Given the description of an element on the screen output the (x, y) to click on. 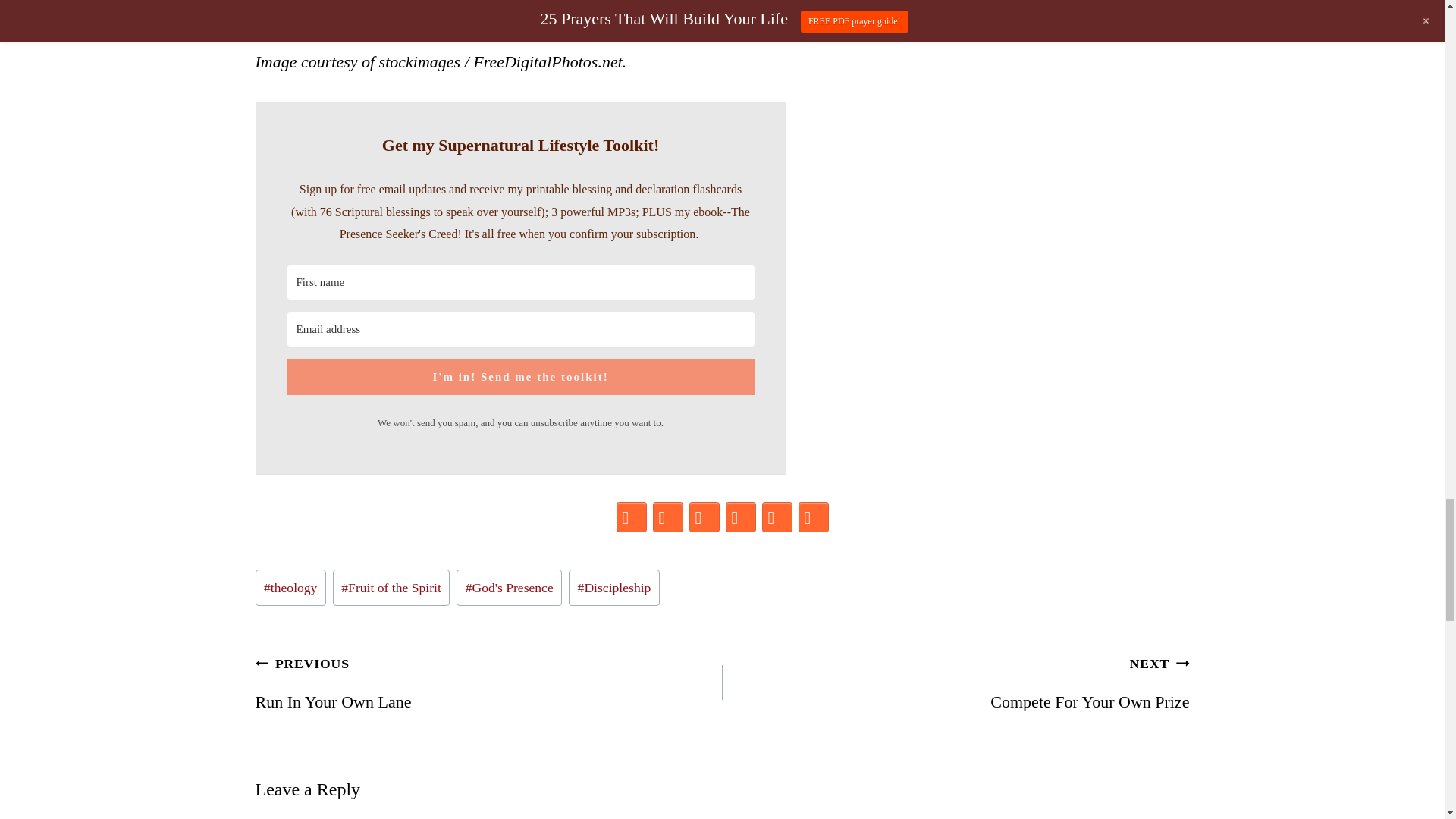
theology (289, 587)
Pinterest (667, 516)
PrintFriendly (812, 516)
God's Presence (509, 587)
Facebook (630, 516)
Email This (776, 516)
Fruit of the Spirit (391, 587)
LinkedIn (740, 516)
